Given the description of an element on the screen output the (x, y) to click on. 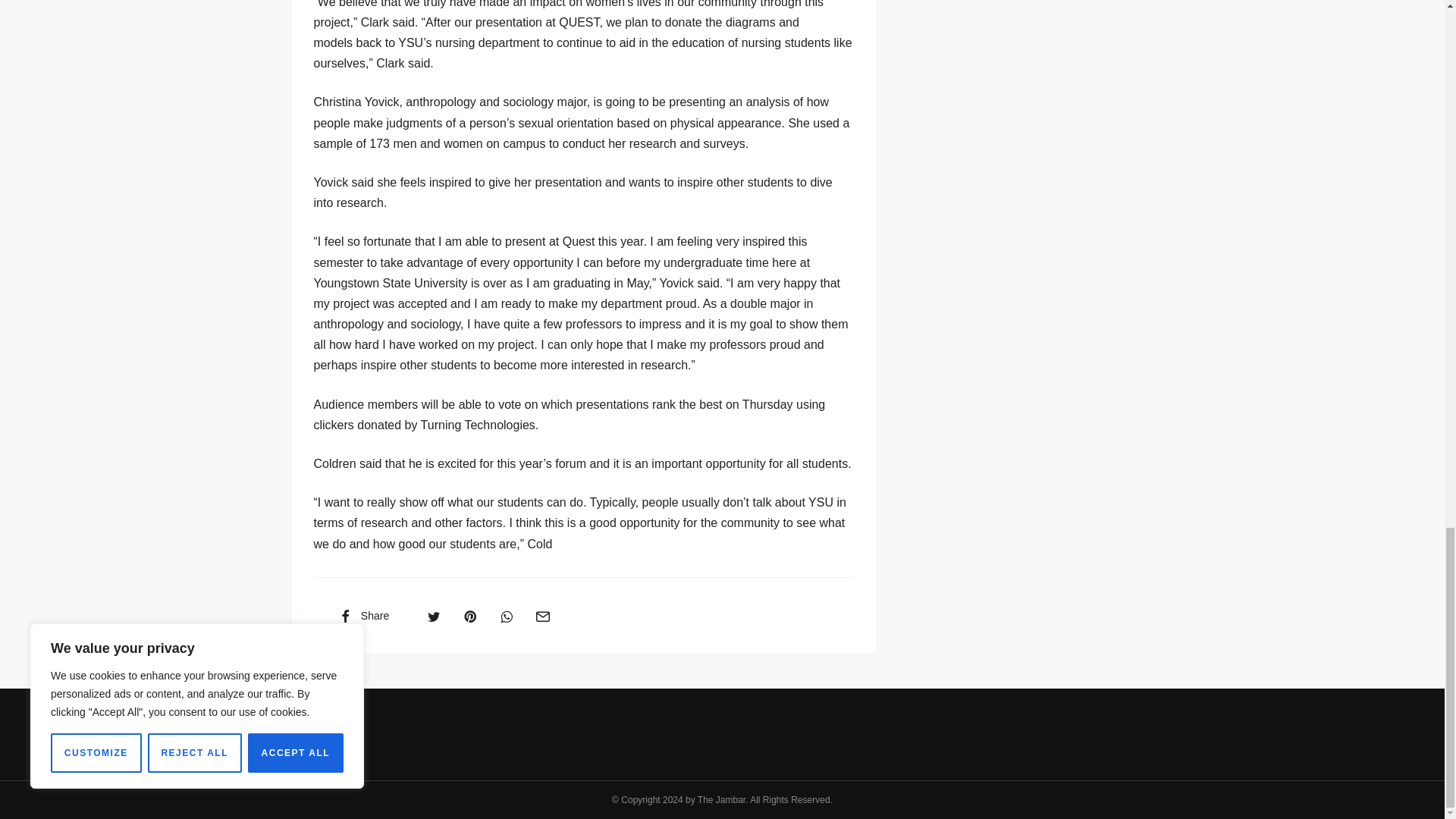
Share on Twitter (433, 615)
Share via Email (542, 615)
Share on Facebook (363, 615)
Share on Whatsapp (506, 615)
Pin this Post (469, 615)
